Given the description of an element on the screen output the (x, y) to click on. 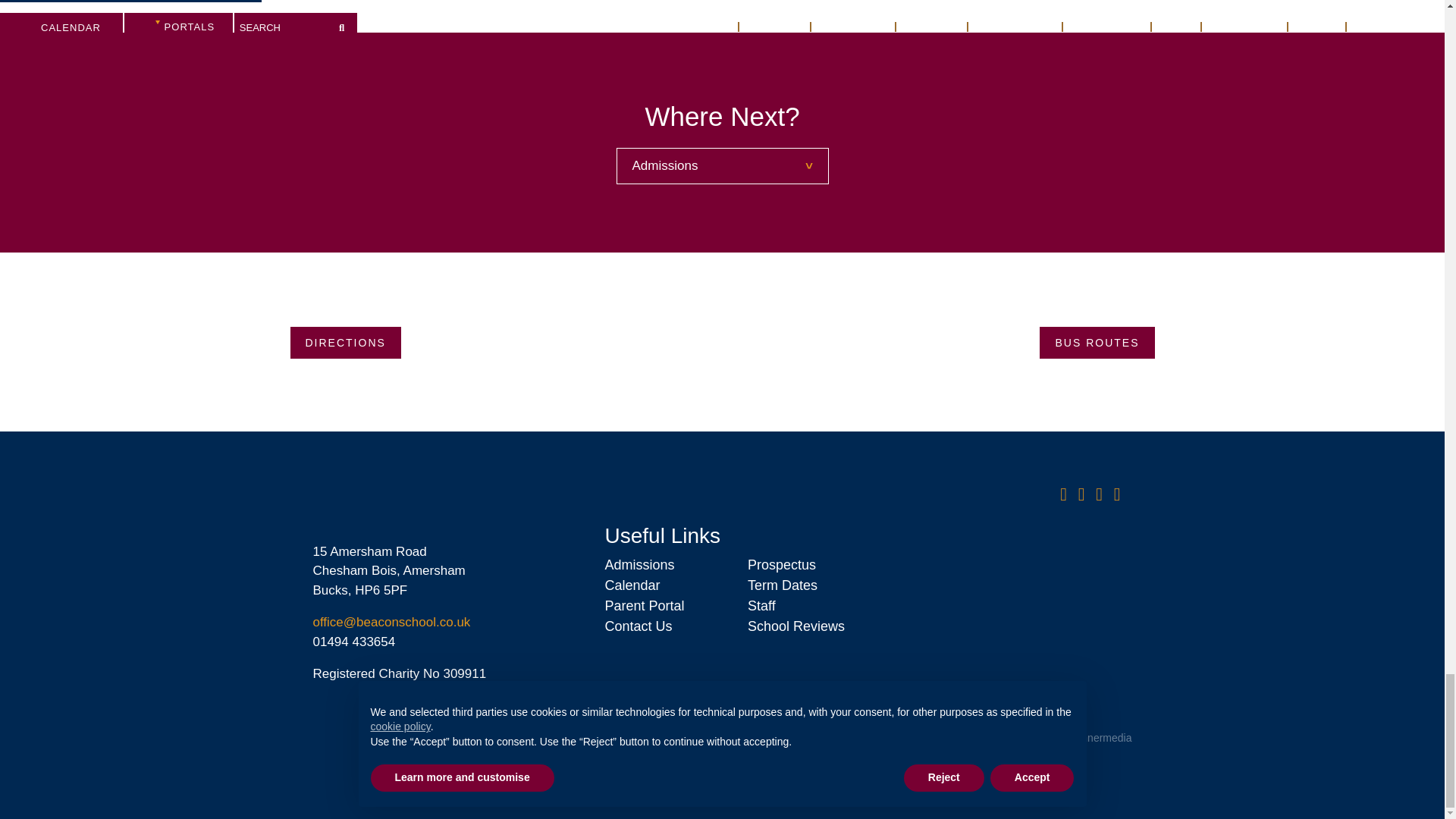
Switch to Print (628, 714)
Switch to High Visibility (770, 714)
Switch to Standard Visibility (695, 714)
